Given the description of an element on the screen output the (x, y) to click on. 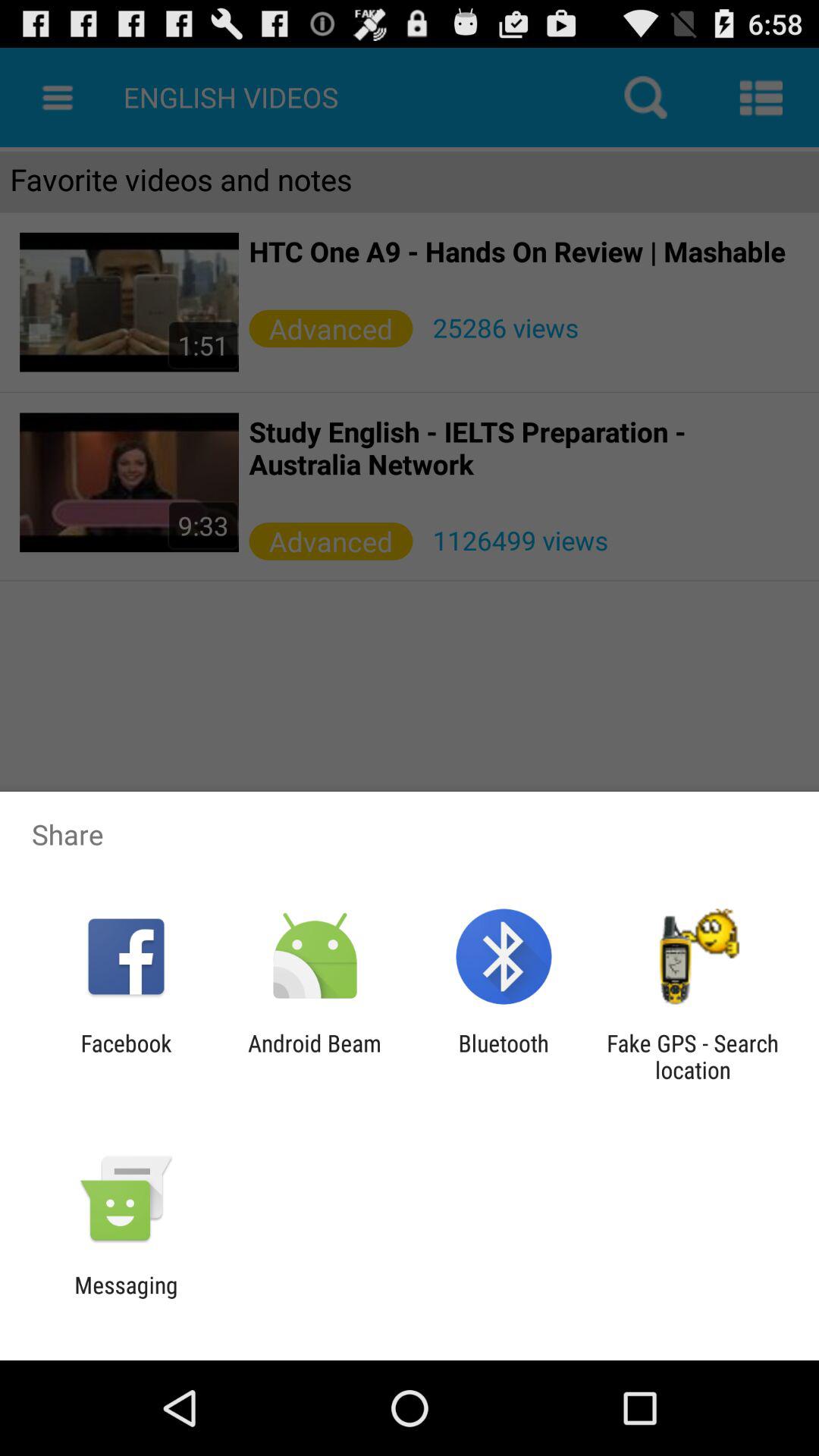
launch app to the right of the facebook icon (314, 1056)
